Given the description of an element on the screen output the (x, y) to click on. 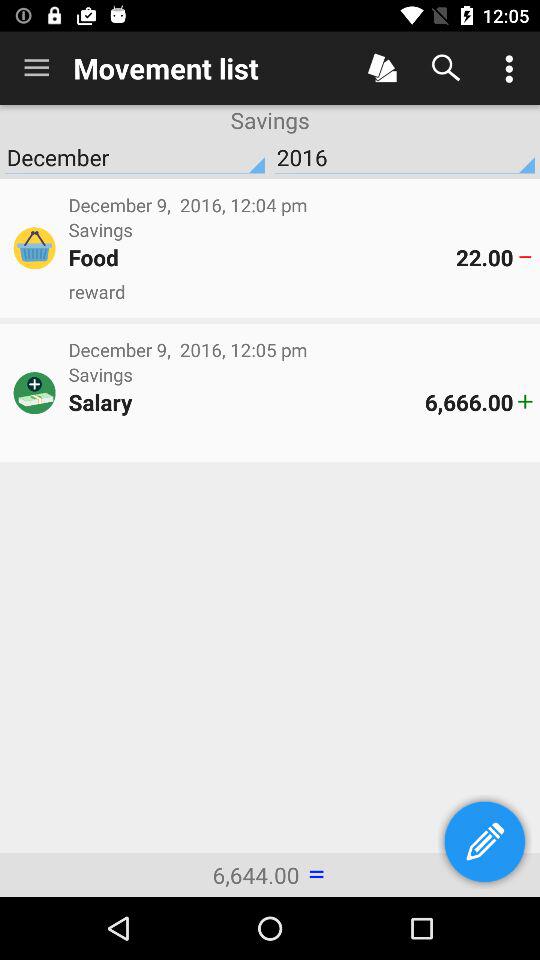
search (445, 67)
